Given the description of an element on the screen output the (x, y) to click on. 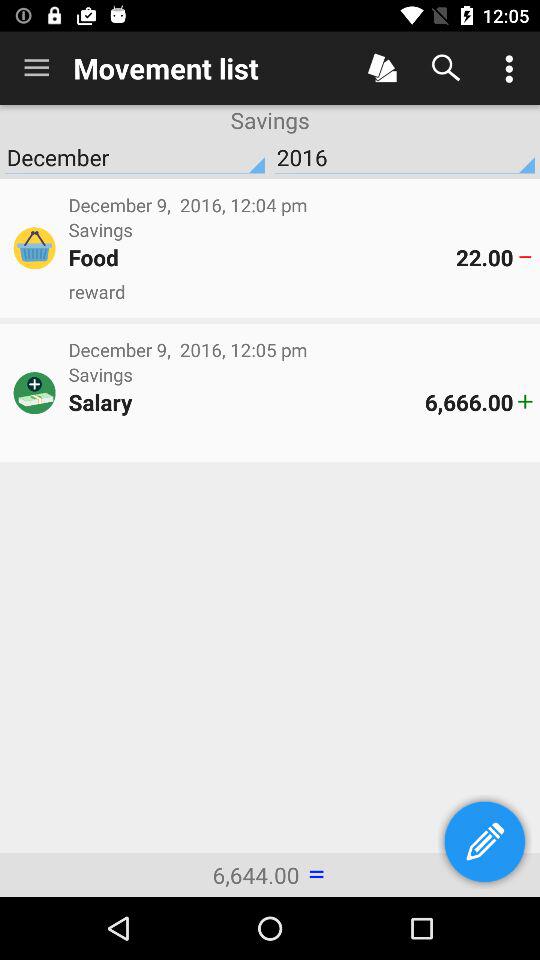
search (445, 67)
